Given the description of an element on the screen output the (x, y) to click on. 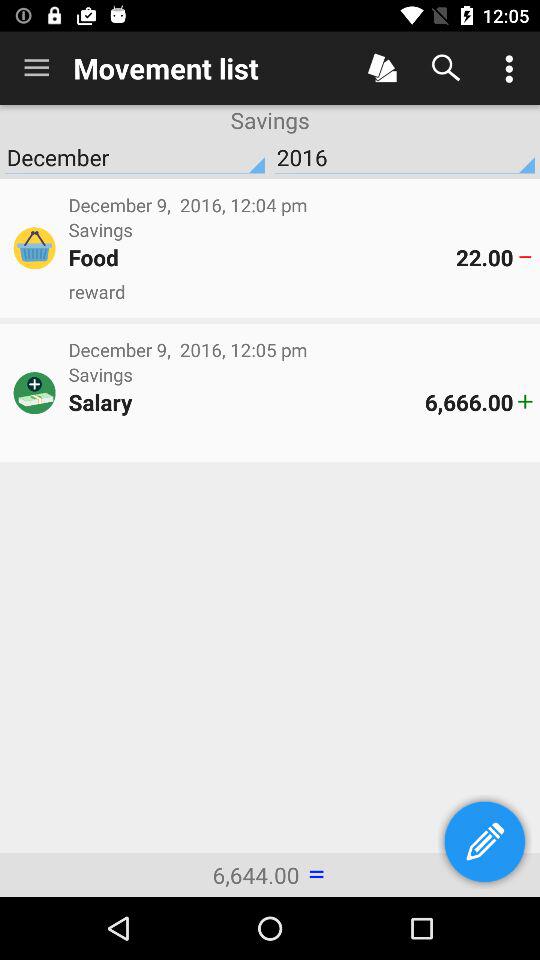
search (445, 67)
